Given the description of an element on the screen output the (x, y) to click on. 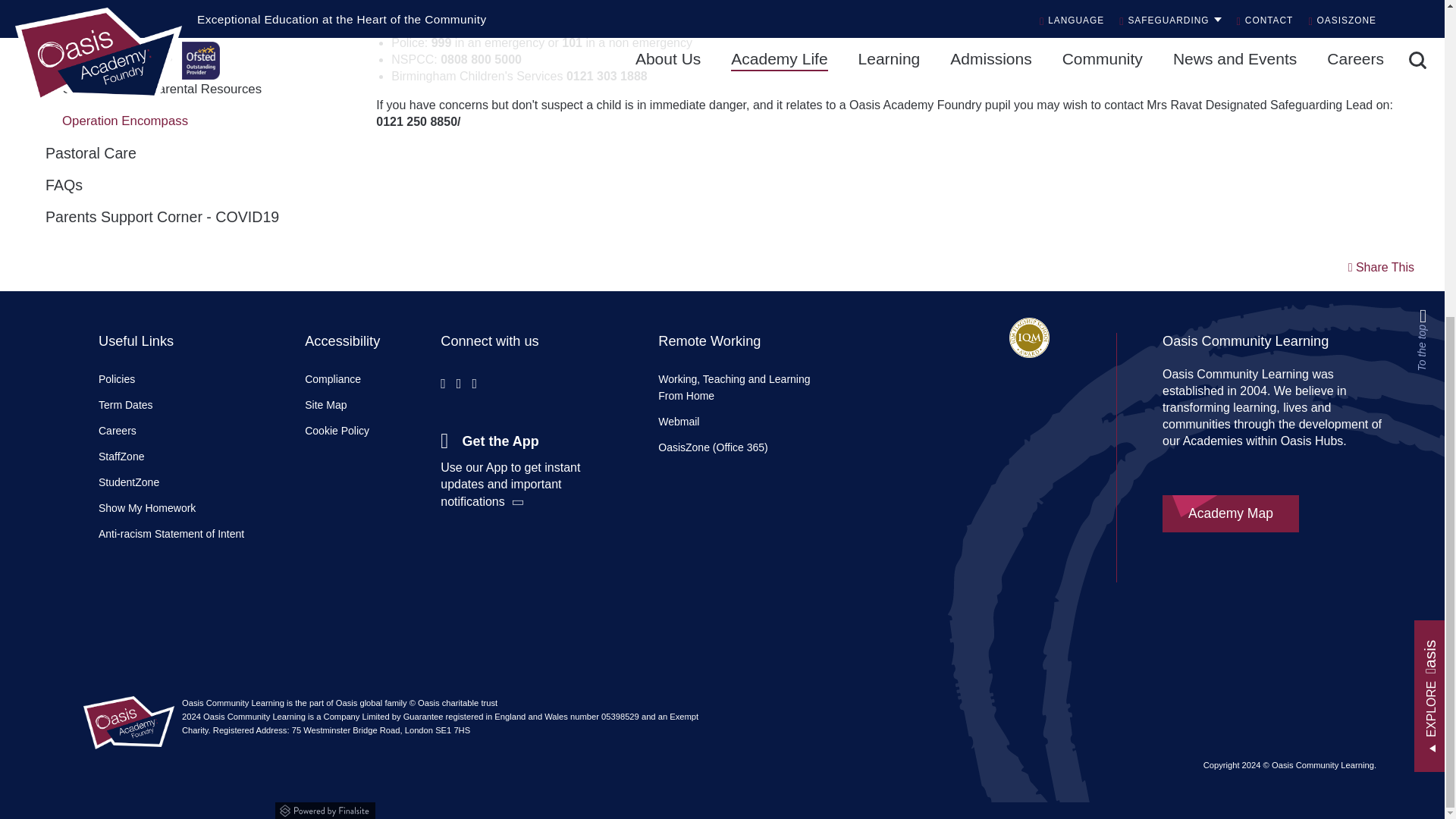
Powered by Finalsite opens in a new window (722, 808)
